Given the description of an element on the screen output the (x, y) to click on. 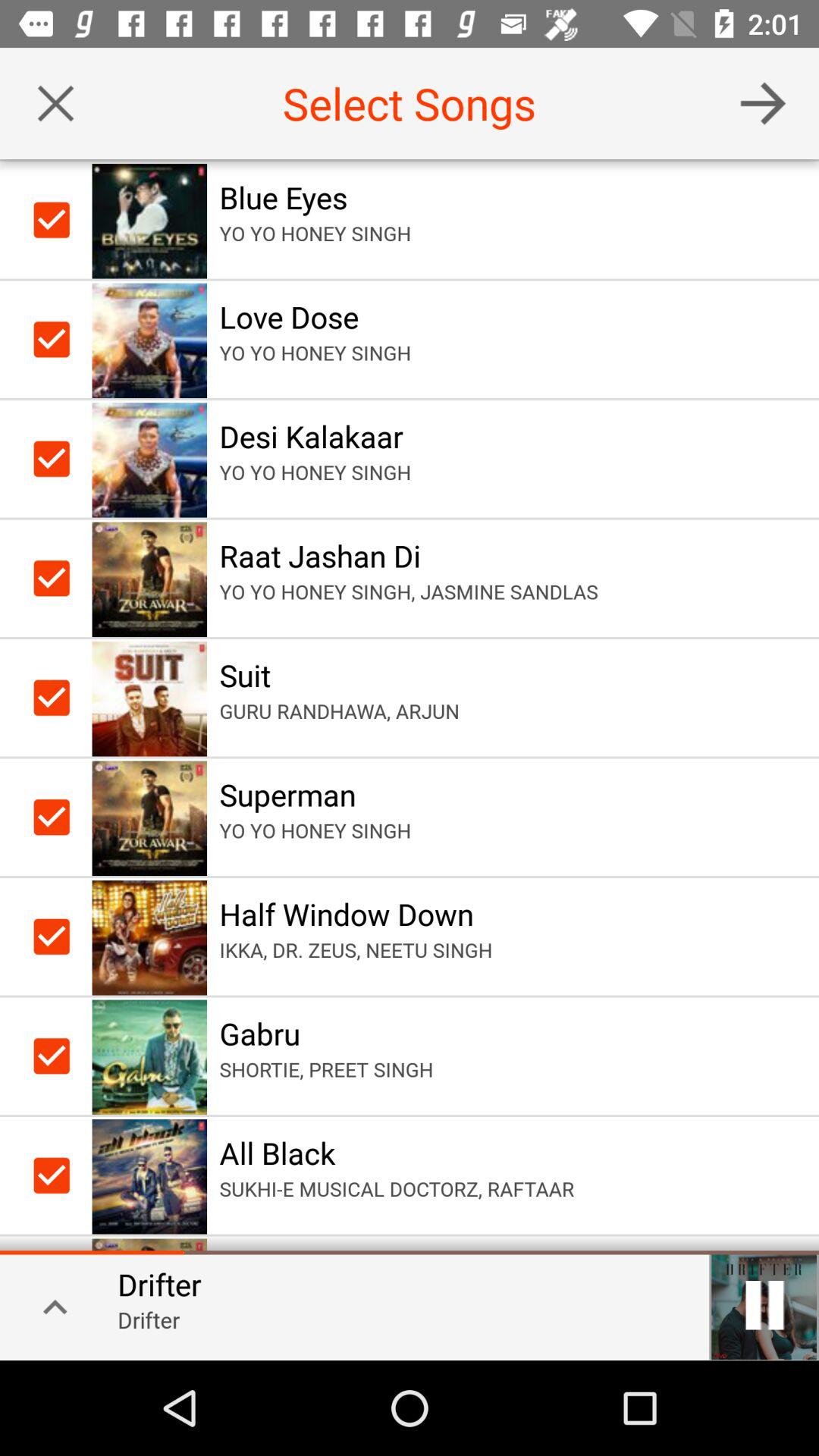
press the item at the top right corner (763, 103)
